Given the description of an element on the screen output the (x, y) to click on. 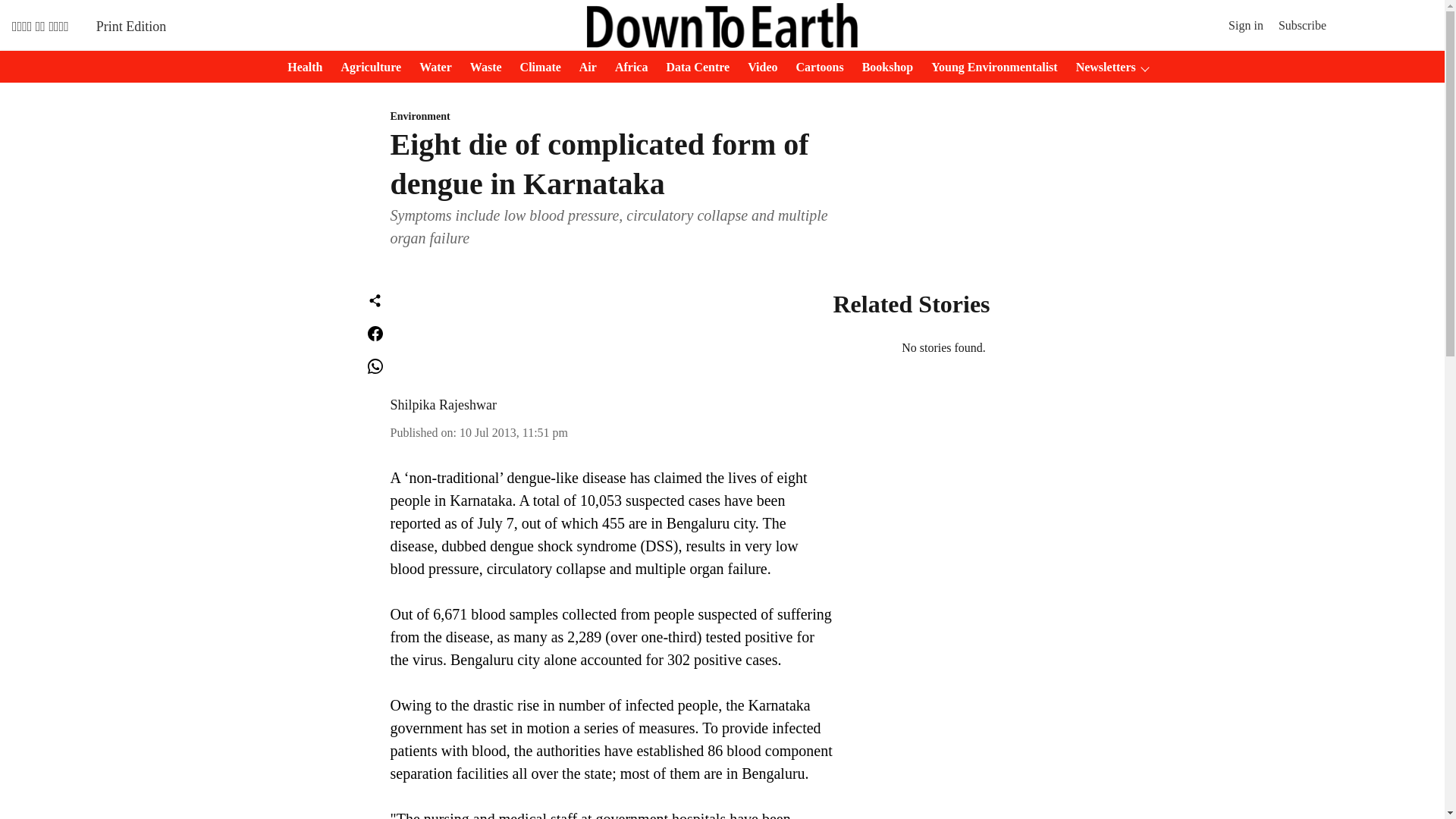
Video (757, 67)
Young Environmentalist (989, 67)
Print Edition (131, 26)
Cartoons (815, 67)
Africa (626, 67)
Shilpika Rajeshwar (443, 404)
Climate (535, 67)
Waste (481, 67)
Agriculture (366, 67)
Data Centre (692, 67)
Water (430, 67)
Bookshop (883, 67)
Environment (611, 116)
Health (299, 67)
2013-07-10 15:51 (513, 431)
